Given the description of an element on the screen output the (x, y) to click on. 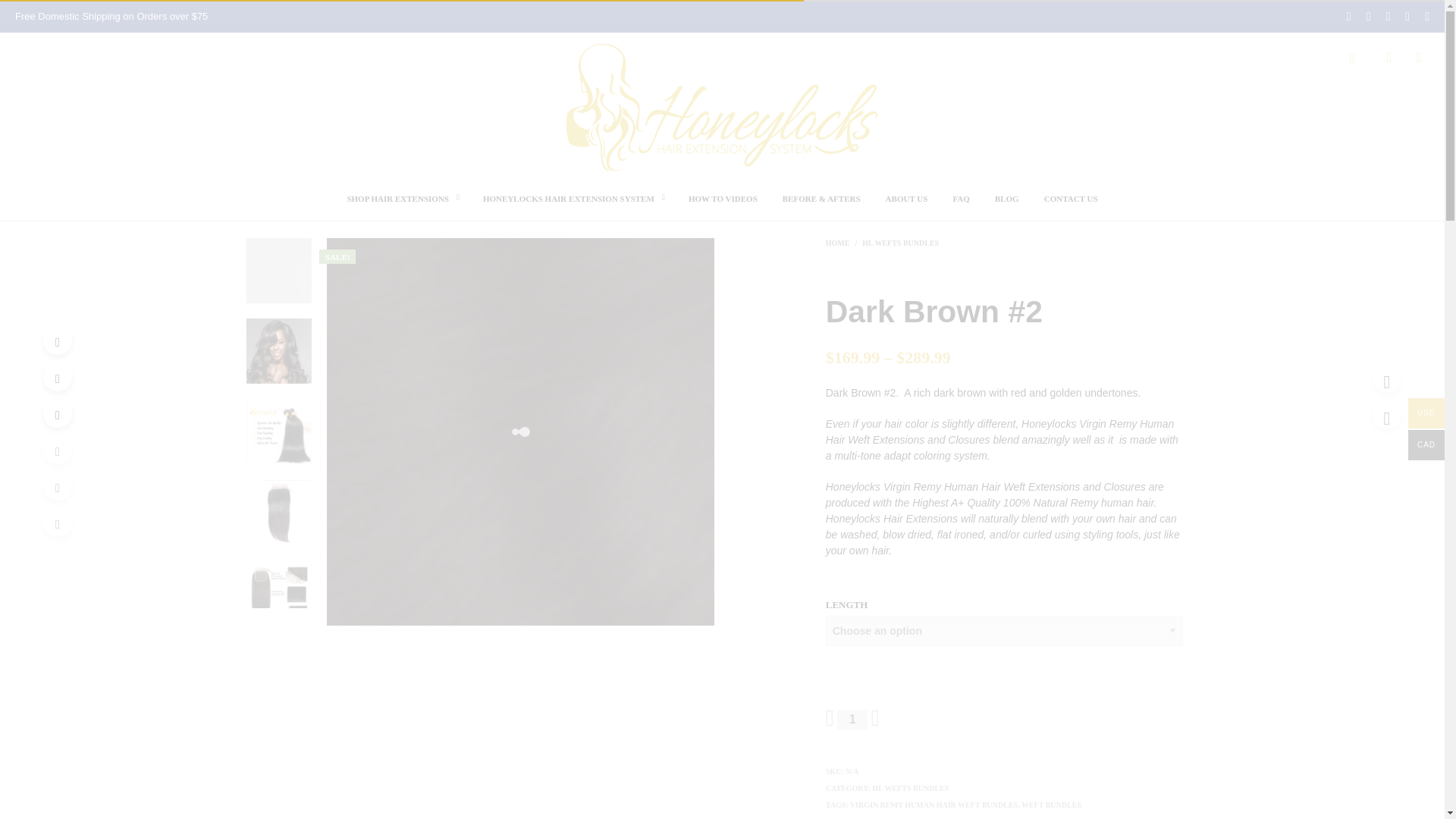
HONEYLOCKS HAIR EXTENSION SYSTEM (568, 198)
FAQ (959, 198)
SHOP HAIR EXTENSIONS (397, 198)
ABOUT US (907, 198)
HOW TO VIDEOS (722, 198)
CONTACT US (1070, 198)
1 (852, 719)
Qty (852, 719)
HL WEFTS BUNDLES (900, 243)
BLOG (1007, 198)
